Given the description of an element on the screen output the (x, y) to click on. 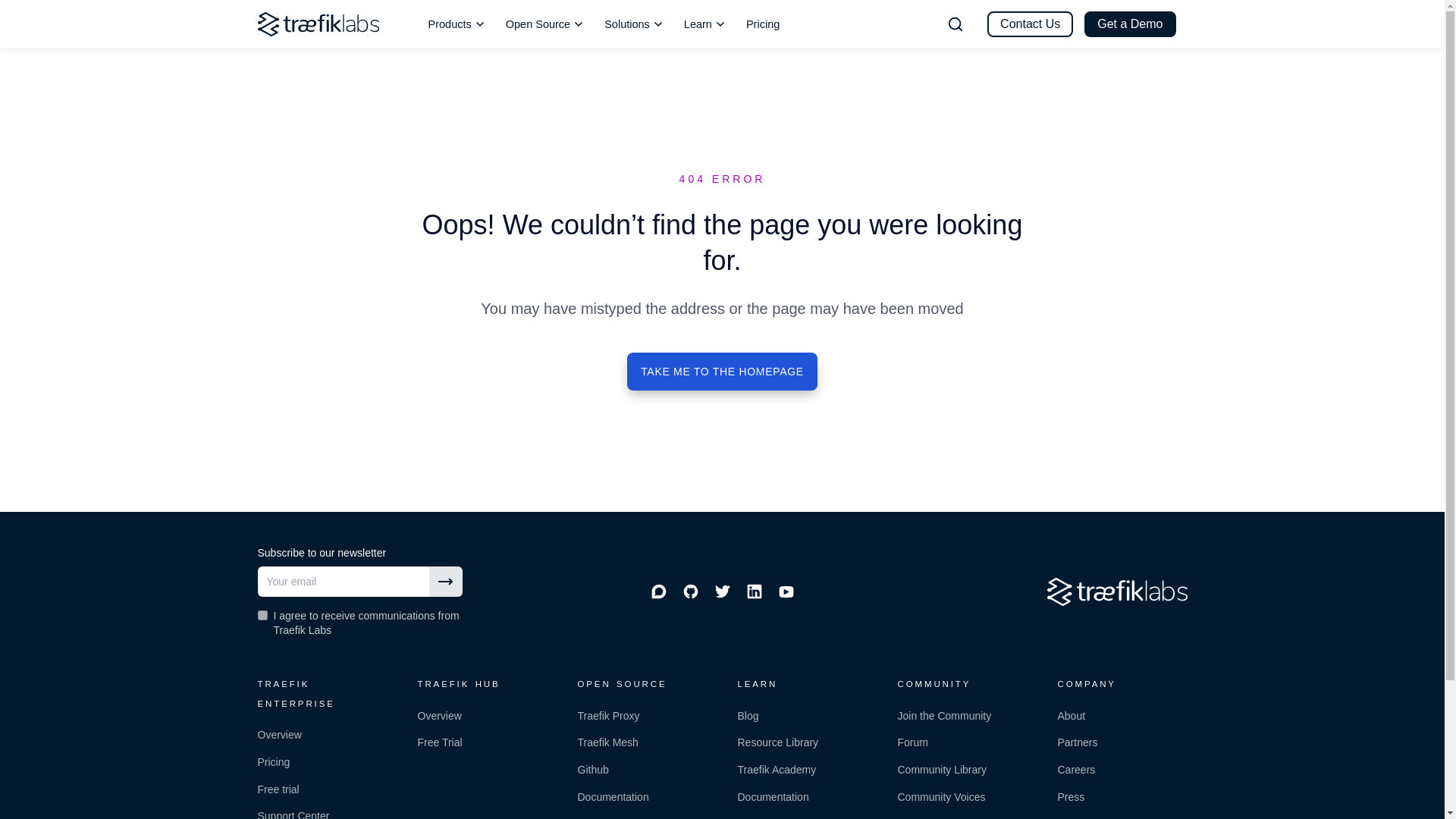
Open Source (545, 24)
Solutions (633, 24)
Products (456, 24)
